Given the description of an element on the screen output the (x, y) to click on. 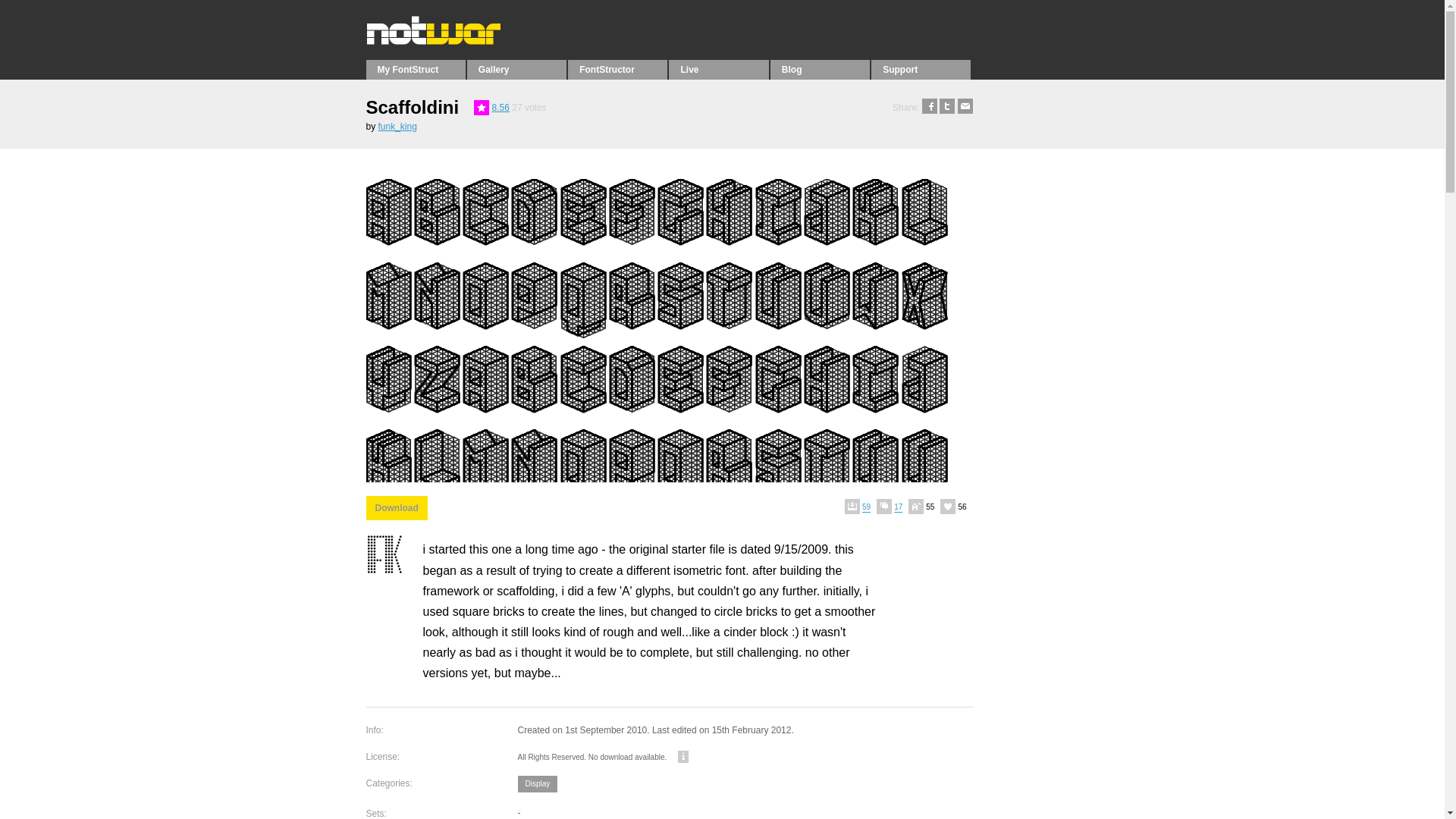
17 (892, 506)
Download for desktop use (395, 508)
8.56 (500, 107)
This FontStruction is a staff pick. (481, 107)
FontStruct (467, 41)
My FontStruct (414, 69)
FontStructor (616, 69)
Share on Twitter (947, 107)
59 (860, 506)
Email this to a friend (964, 107)
Support (920, 69)
